Given the description of an element on the screen output the (x, y) to click on. 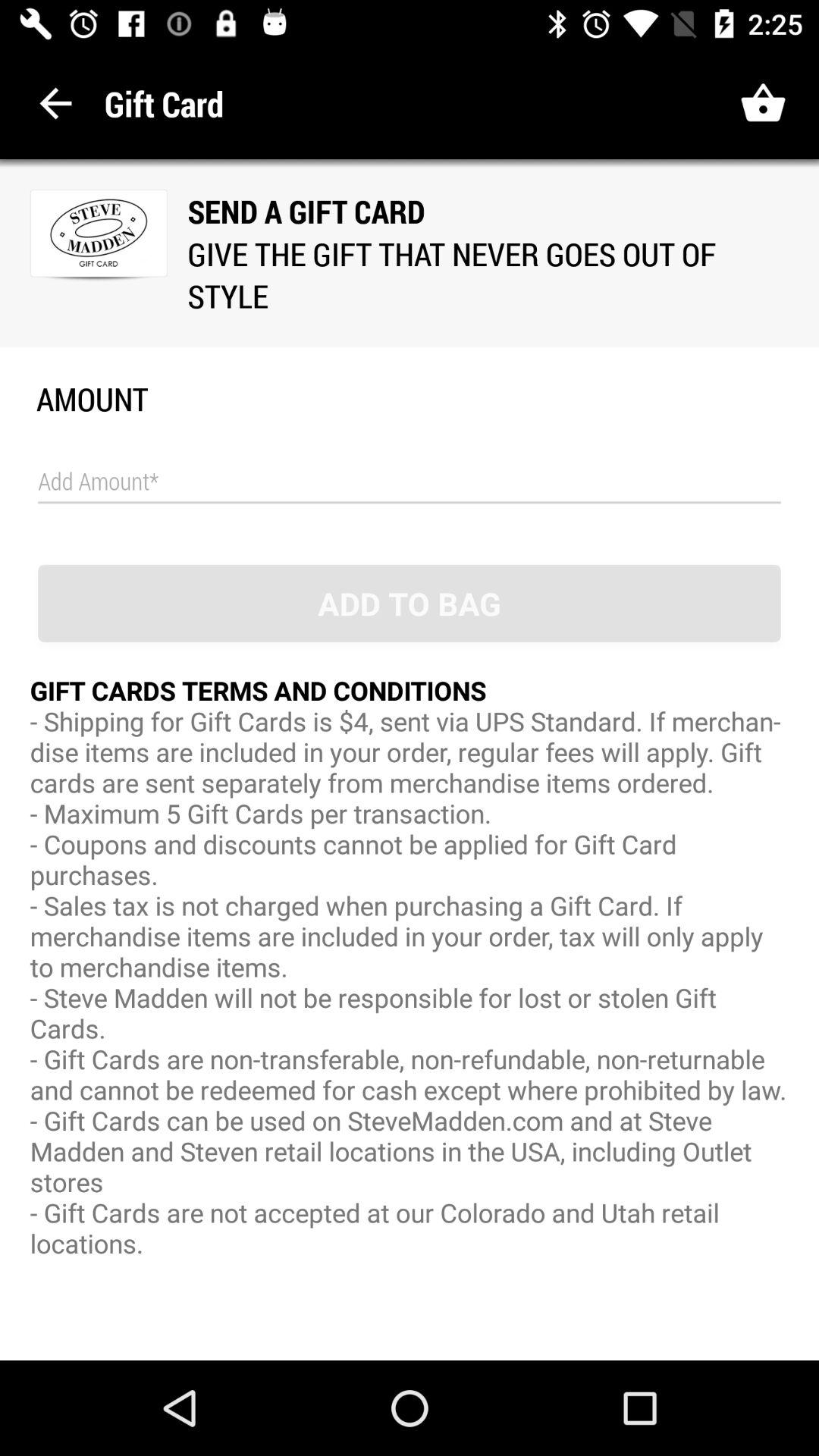
go to previous (55, 103)
